Given the description of an element on the screen output the (x, y) to click on. 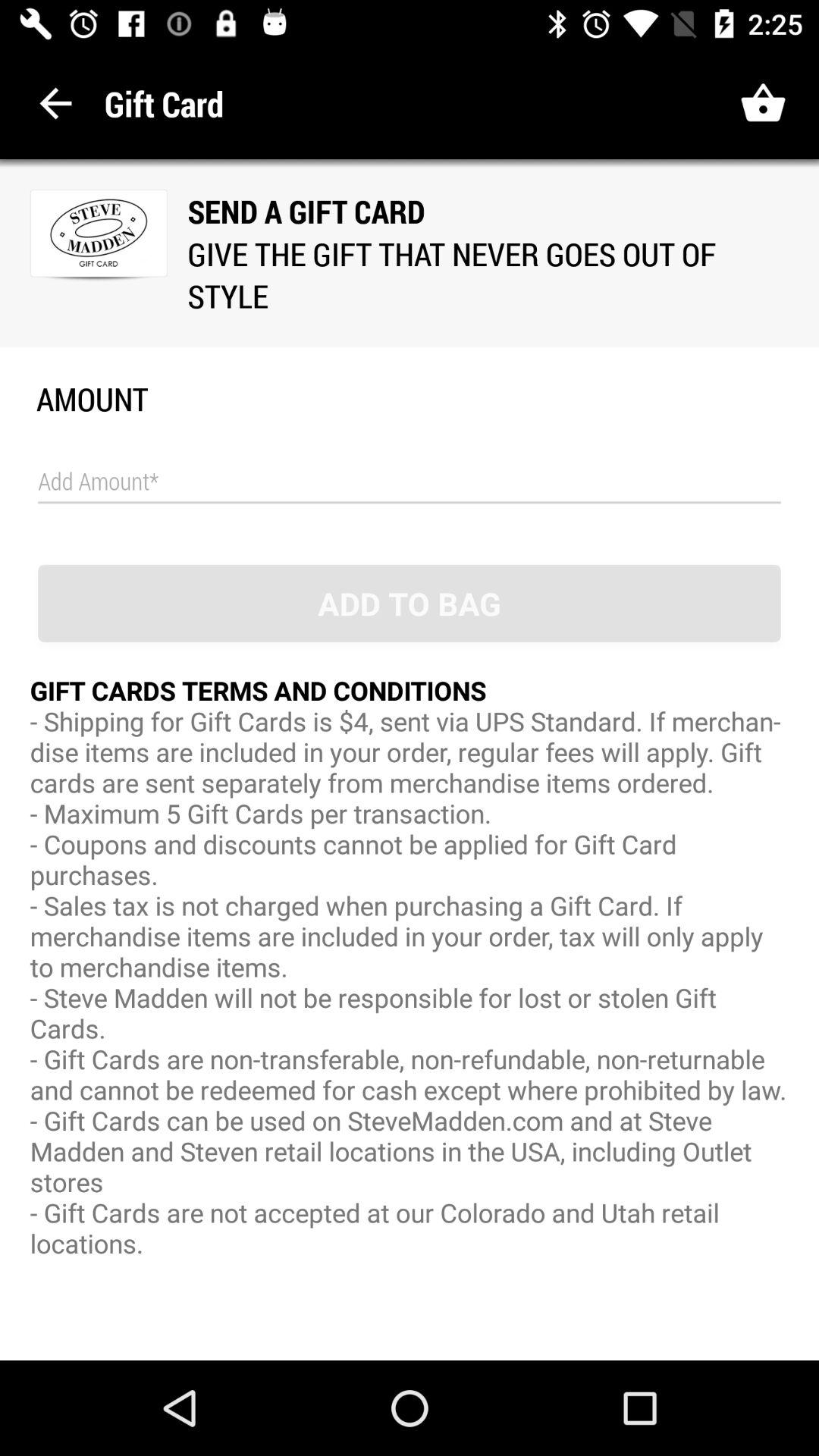
go to previous (55, 103)
